Given the description of an element on the screen output the (x, y) to click on. 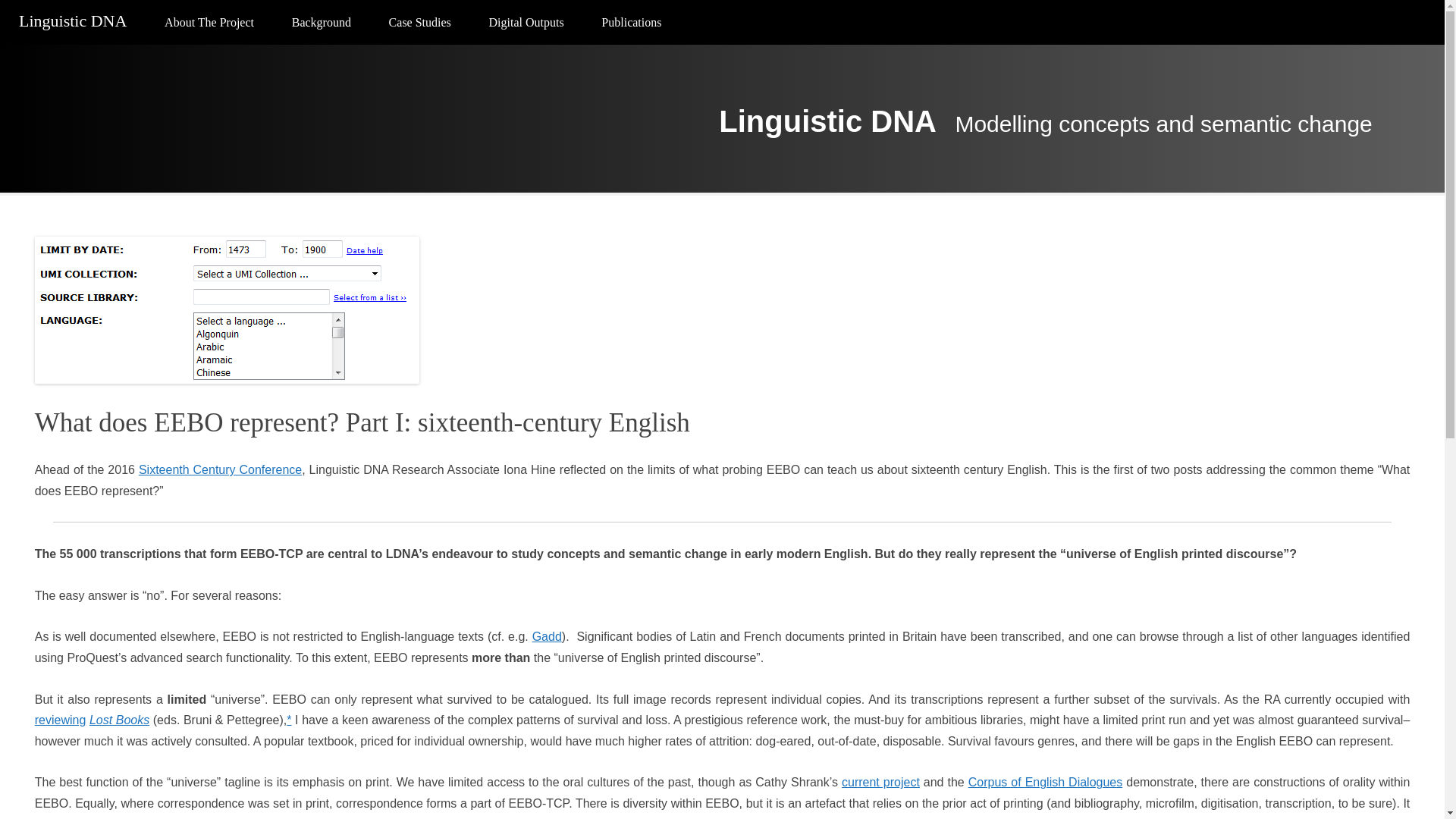
Linguistic DNA (827, 121)
About The Project (208, 22)
Digital Outputs (526, 22)
current project (880, 781)
Case Studies (419, 22)
Concept Modelling Interfaces (576, 59)
Background (321, 22)
Lost Books (118, 719)
Historical Context (251, 59)
Publications (631, 22)
Approaching Concepts (379, 59)
BBC Radio News Scripts (476, 59)
reviewing (59, 719)
Sixteenth Century Conference (219, 469)
